Given the description of an element on the screen output the (x, y) to click on. 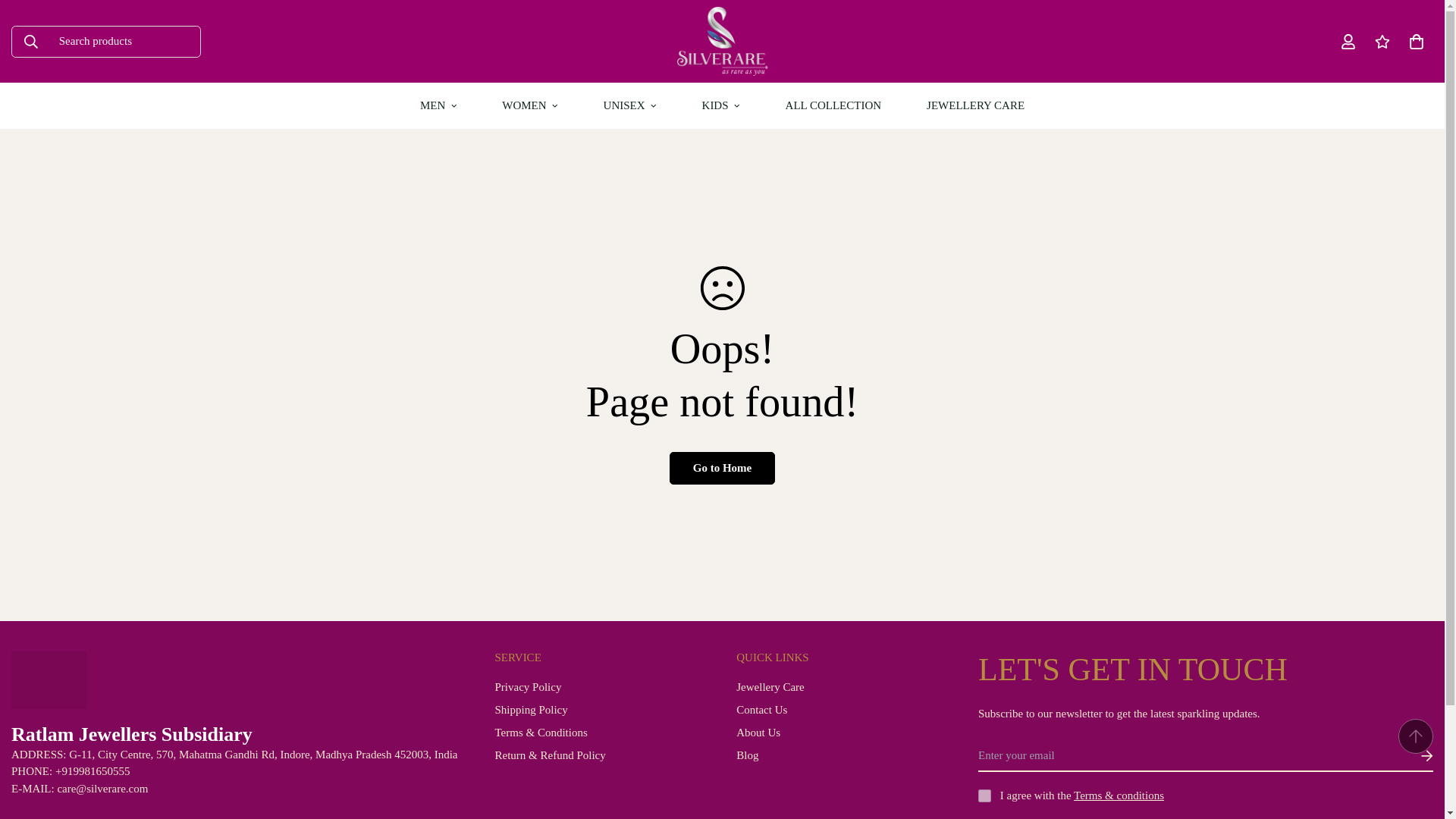
UNISEX (629, 105)
MEN (438, 105)
yes (721, 105)
SILVERARE (984, 795)
WOMEN (722, 41)
